Given the description of an element on the screen output the (x, y) to click on. 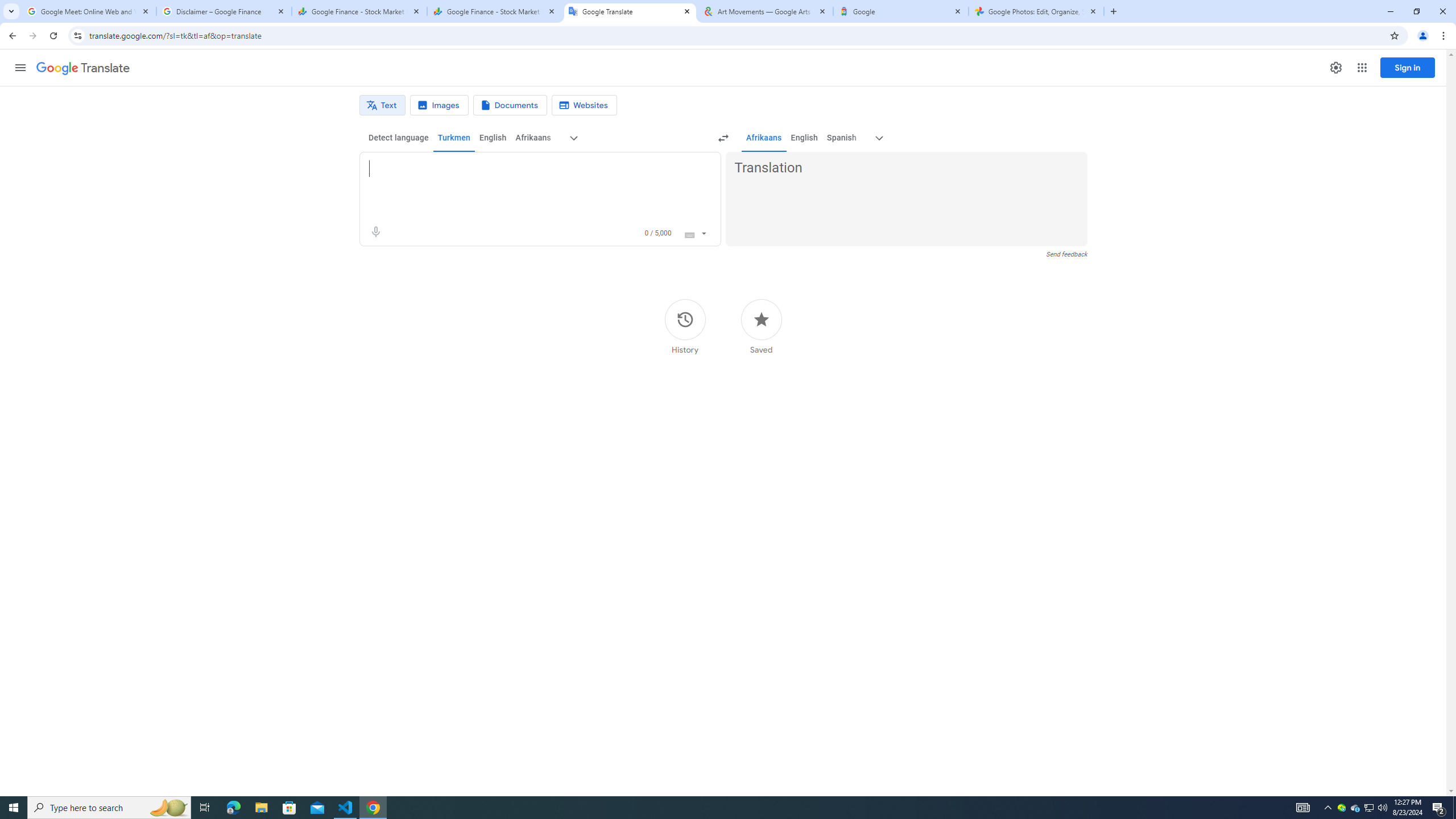
More target languages (879, 137)
Turkmen (453, 137)
Google apps (1362, 67)
Main menu (20, 67)
More source languages (573, 137)
Google Translate (82, 68)
Google (901, 11)
English (804, 137)
